Given the description of an element on the screen output the (x, y) to click on. 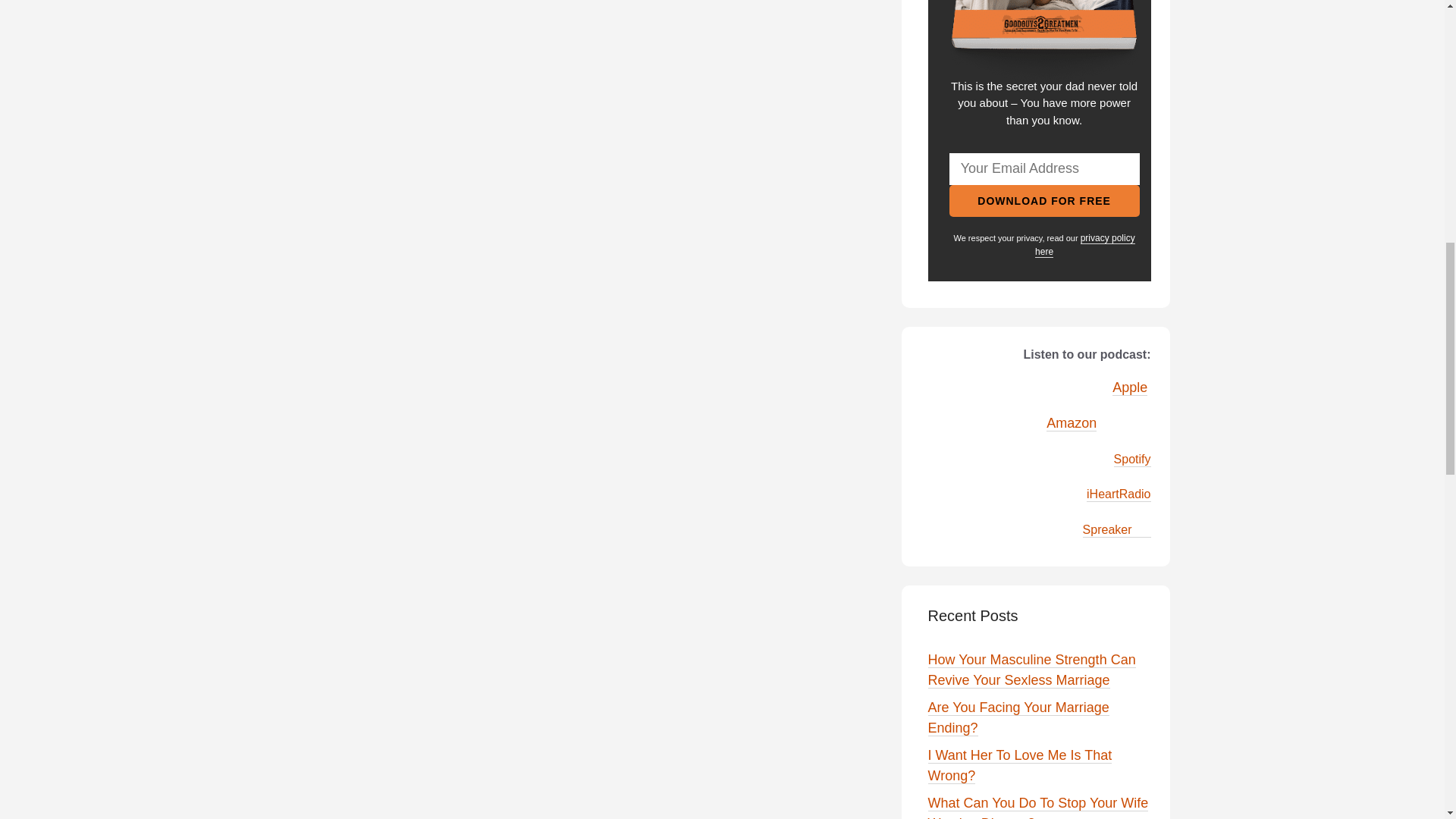
Scroll back to top (1406, 720)
Download for Free (1044, 201)
Privacy Policy (1085, 244)
